Given the description of an element on the screen output the (x, y) to click on. 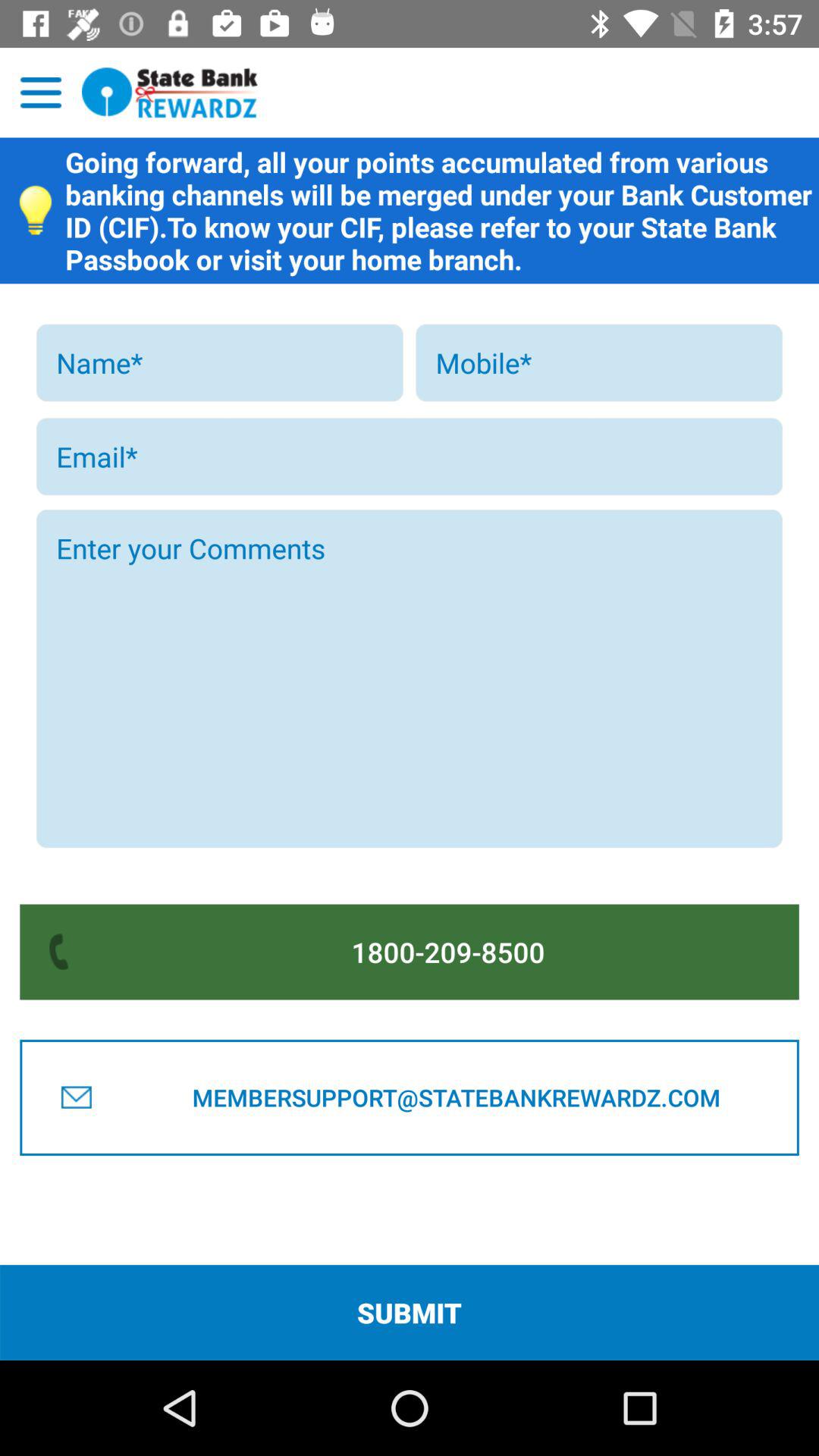
select the 1800-209-8500 (448, 951)
